Given the description of an element on the screen output the (x, y) to click on. 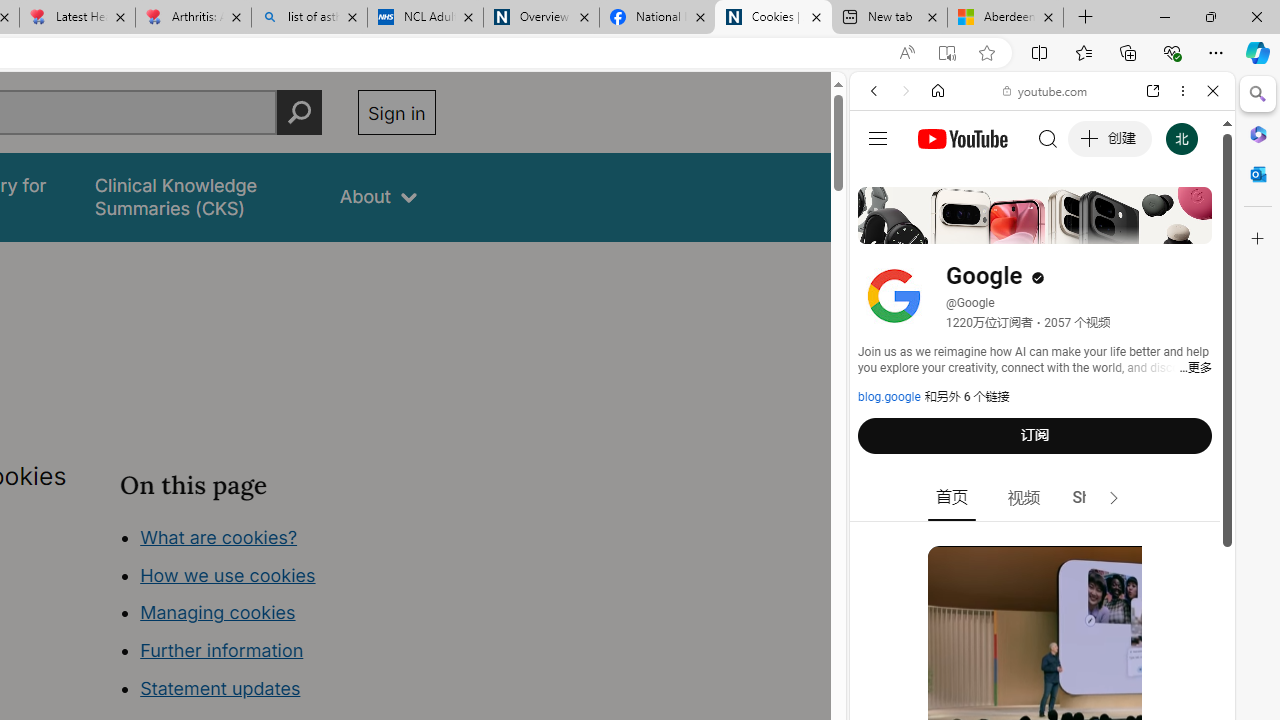
Statement updates (219, 688)
Arthritis: Ask Health Professionals (192, 17)
Search Filter, IMAGES (939, 228)
Search Filter, WEB (882, 228)
Further information (221, 650)
Aberdeen, Hong Kong SAR hourly forecast | Microsoft Weather (1005, 17)
